Given the description of an element on the screen output the (x, y) to click on. 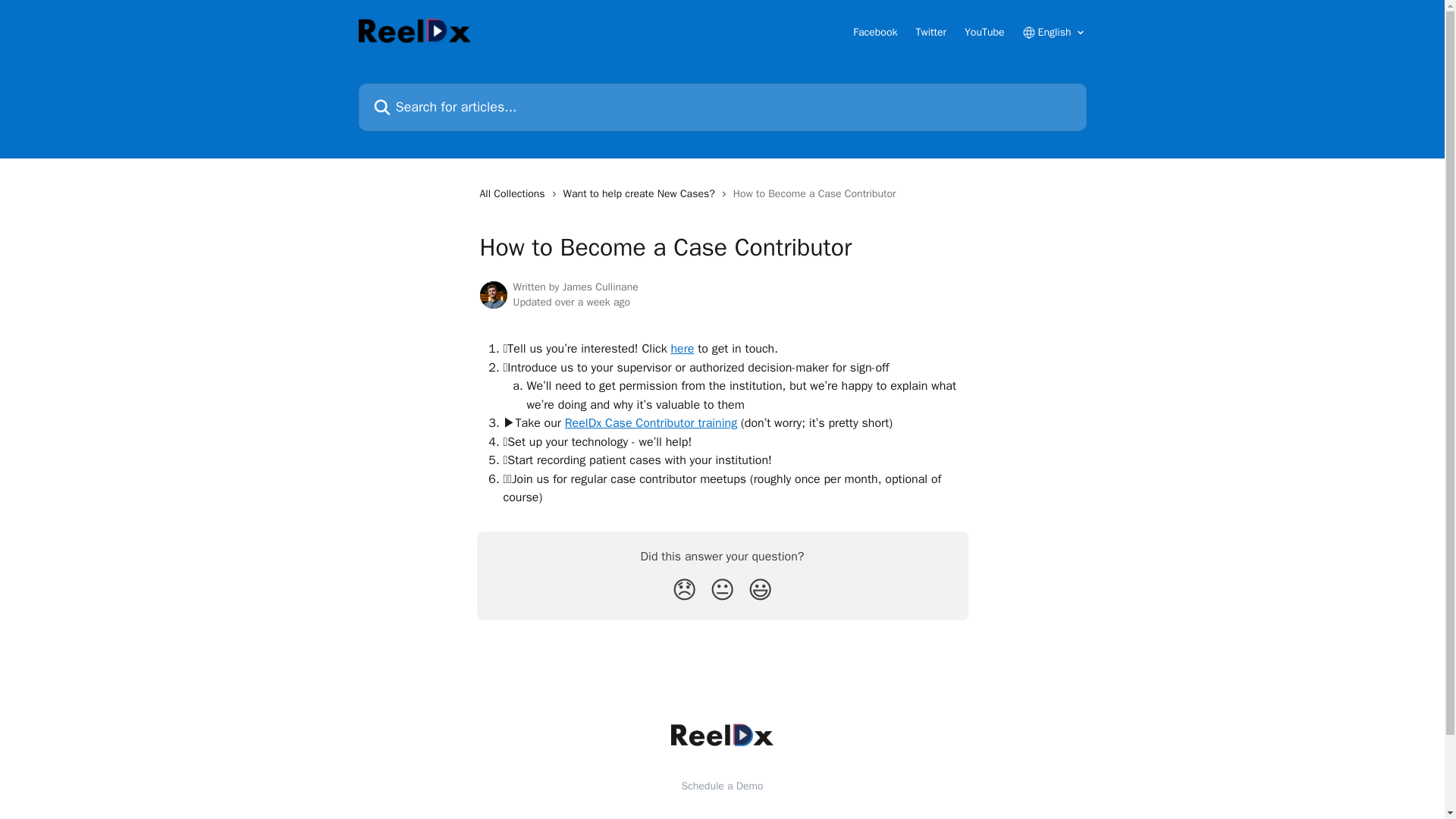
Twitter (930, 32)
here (681, 348)
Want to help create New Cases? (641, 193)
Neutral (722, 590)
ReelDx Case Contributor training (650, 422)
Smiley (760, 590)
Disappointed (684, 590)
Facebook (874, 32)
All Collections (514, 193)
Schedule a Demo (721, 785)
YouTube (983, 32)
